Given the description of an element on the screen output the (x, y) to click on. 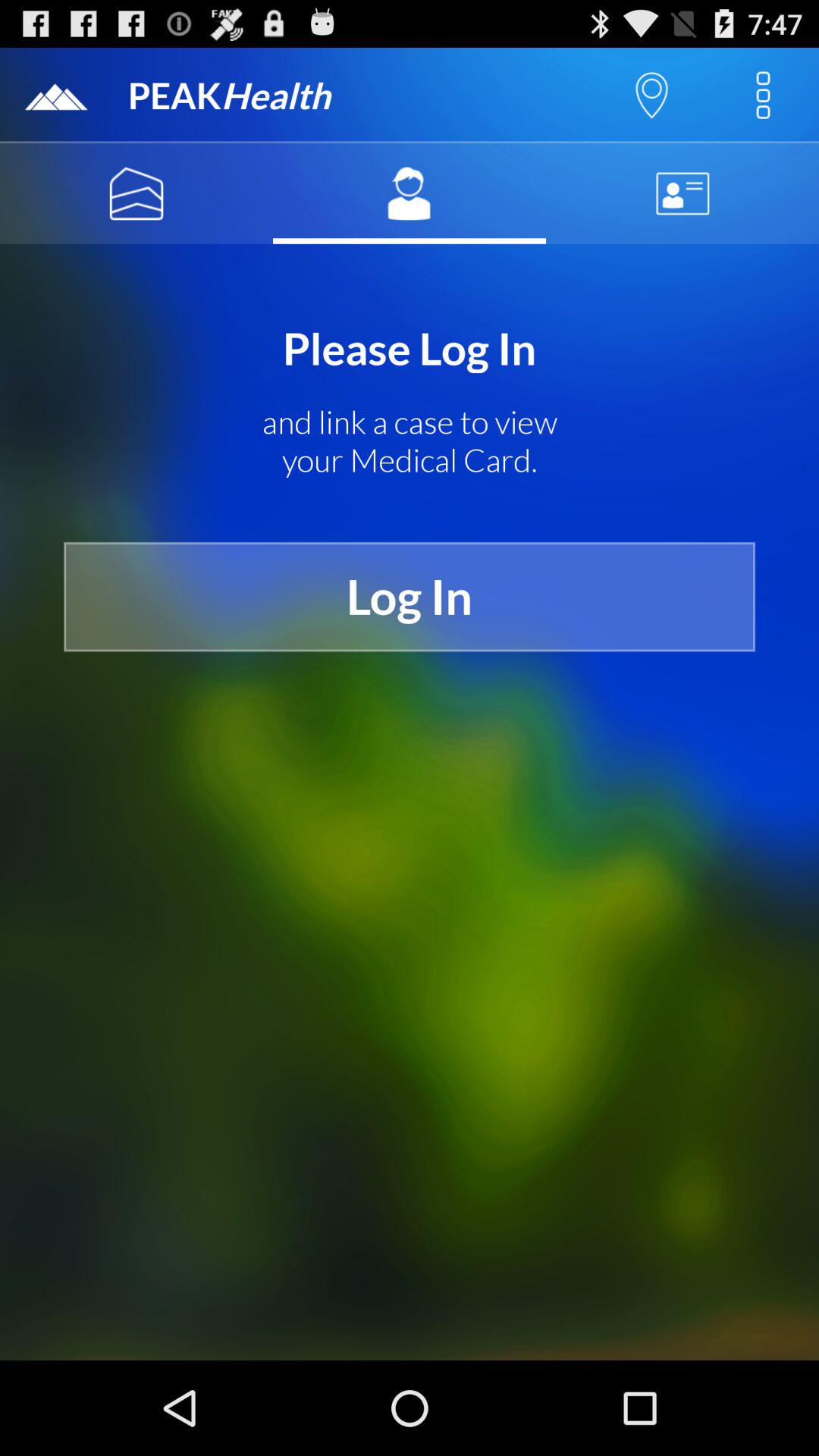
launch the item above please log in icon (409, 193)
